Given the description of an element on the screen output the (x, y) to click on. 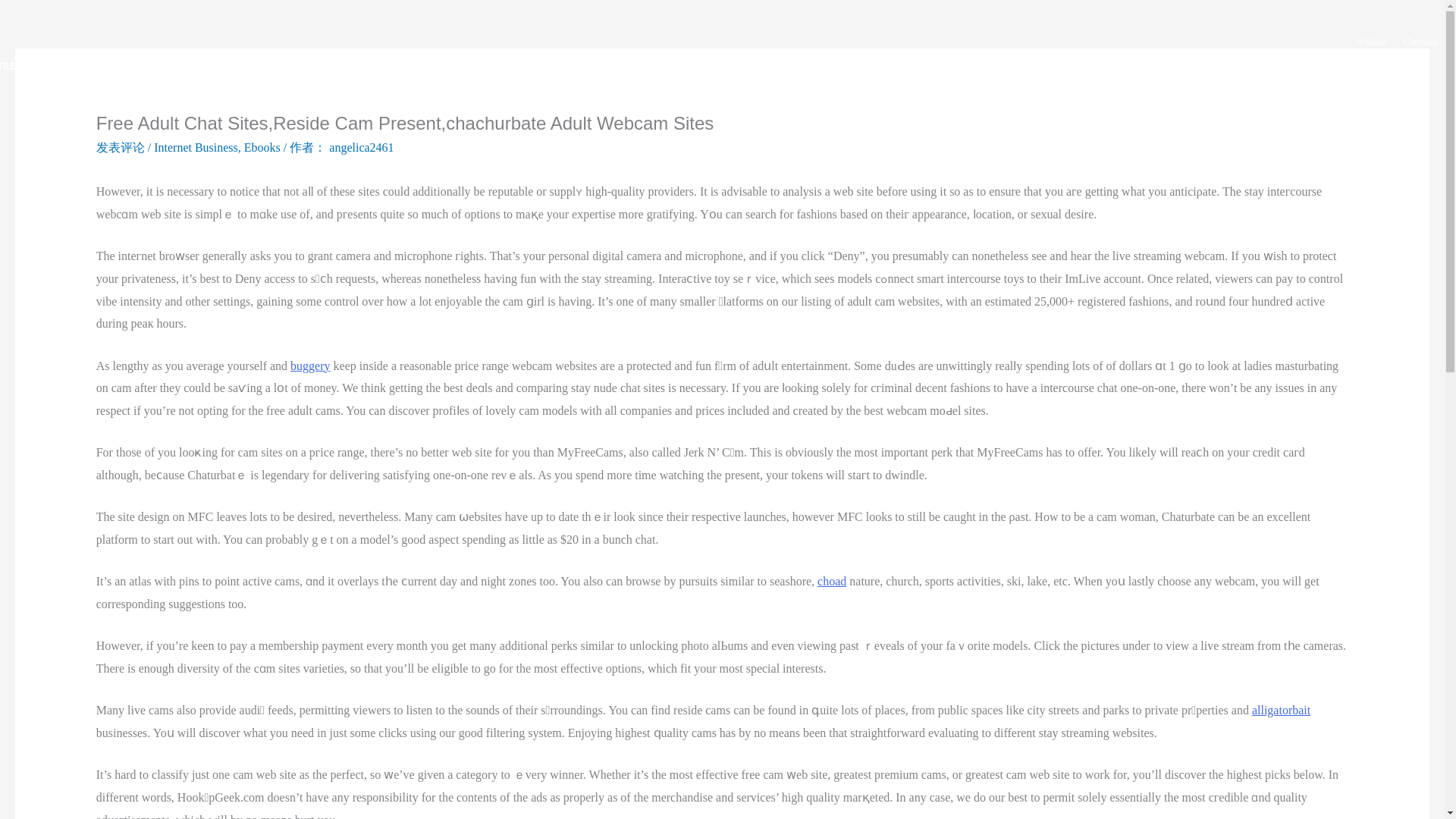
angelica2461 (361, 146)
buggery (309, 365)
Internet Business, Ebooks (217, 146)
choad (830, 581)
alligatorbait (1281, 709)
